Given the description of an element on the screen output the (x, y) to click on. 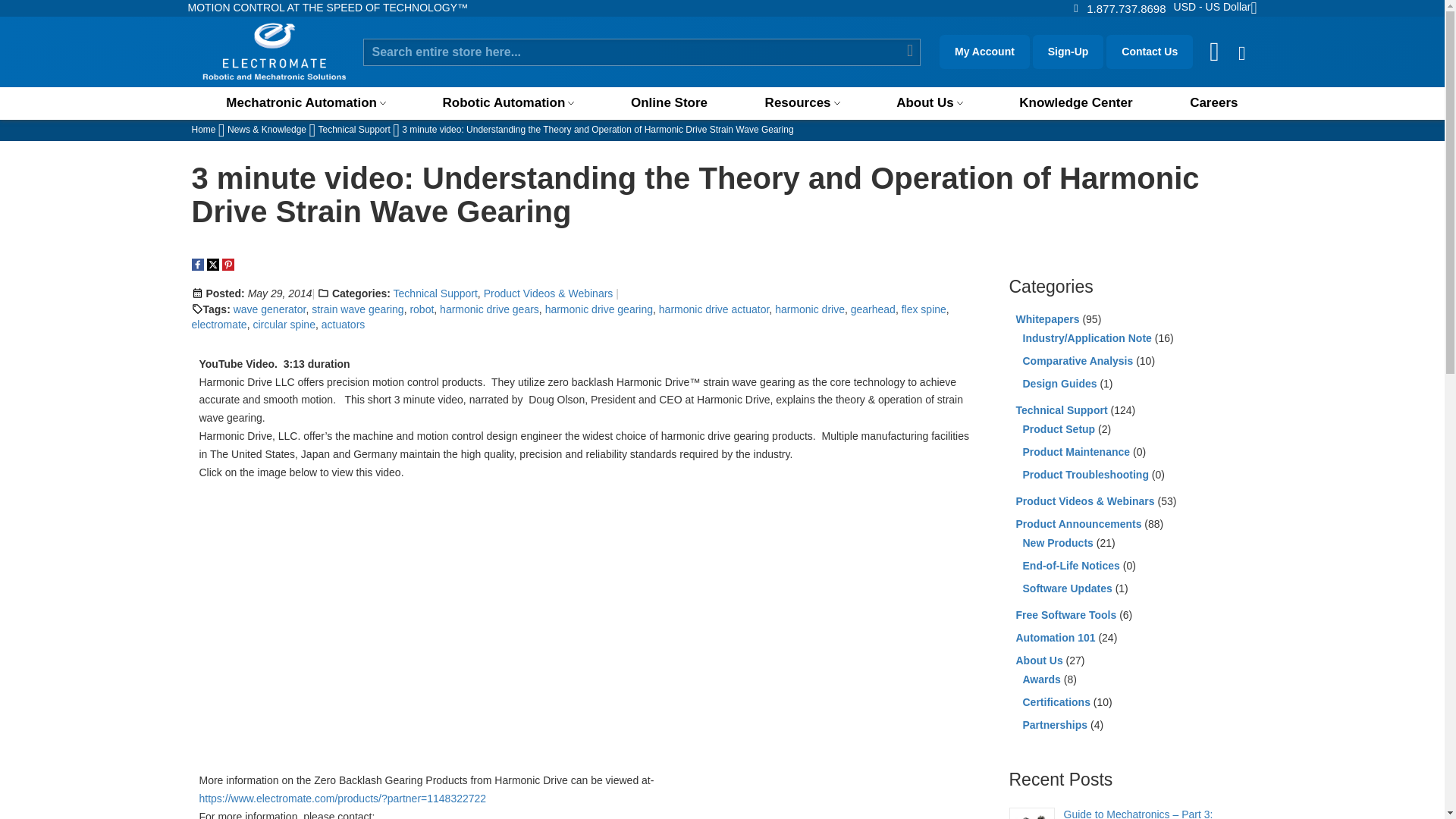
Share on X (212, 264)
harmonic drive (809, 309)
Mechatronic Automation (305, 102)
harmonic drive actuator (714, 309)
Go to Home Page (202, 129)
harmonic drive gearing (598, 309)
harmonic drive gears (488, 309)
1.877.737.8698 (1126, 7)
strain wave gearing (357, 309)
gearhead (872, 309)
